Given the description of an element on the screen output the (x, y) to click on. 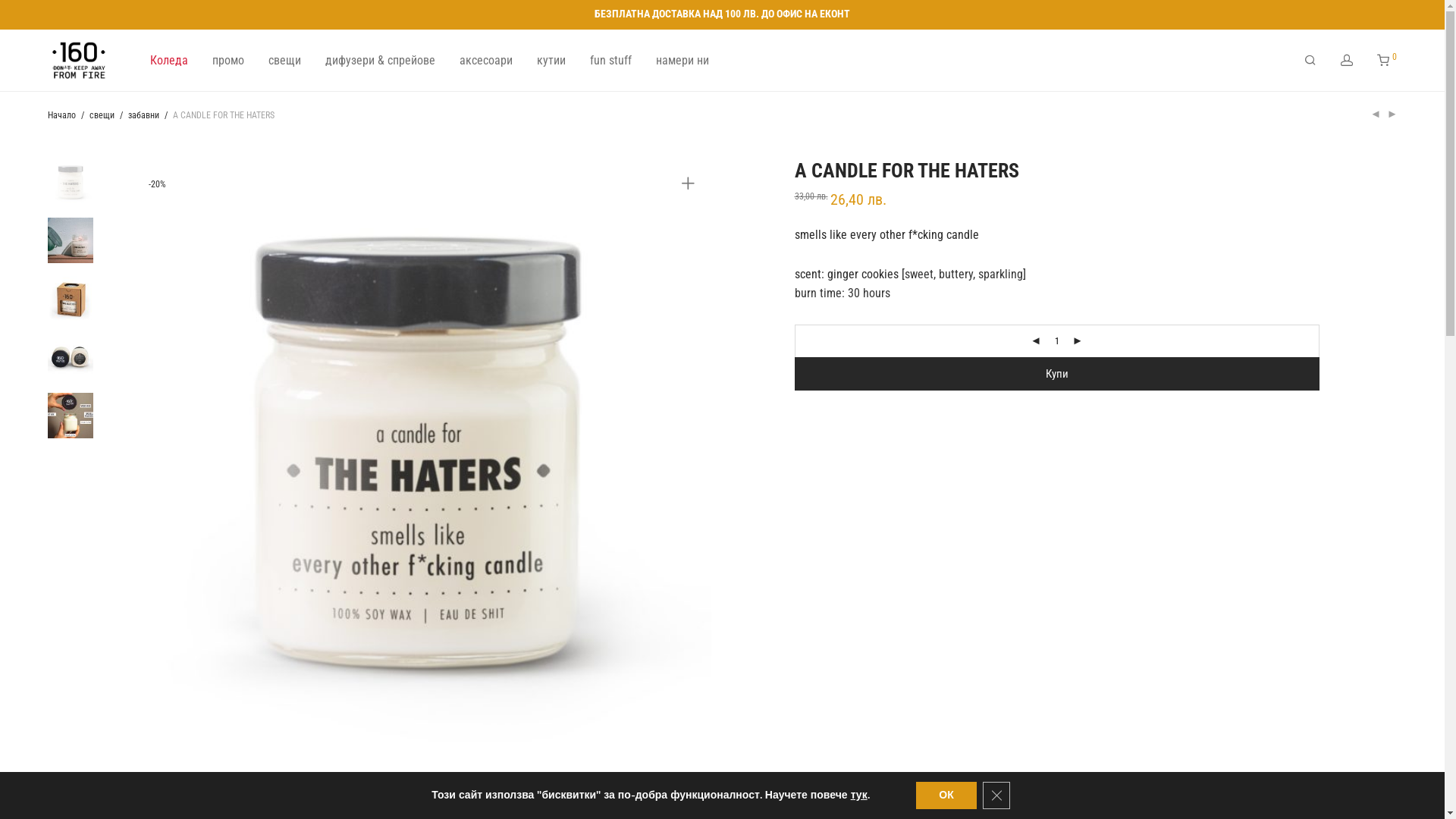
0 Element type: text (1386, 60)
fun stuff Element type: text (610, 60)
Close GDPR Cookie Banner Element type: text (996, 795)
902 Element type: hover (418, 452)
